Given the description of an element on the screen output the (x, y) to click on. 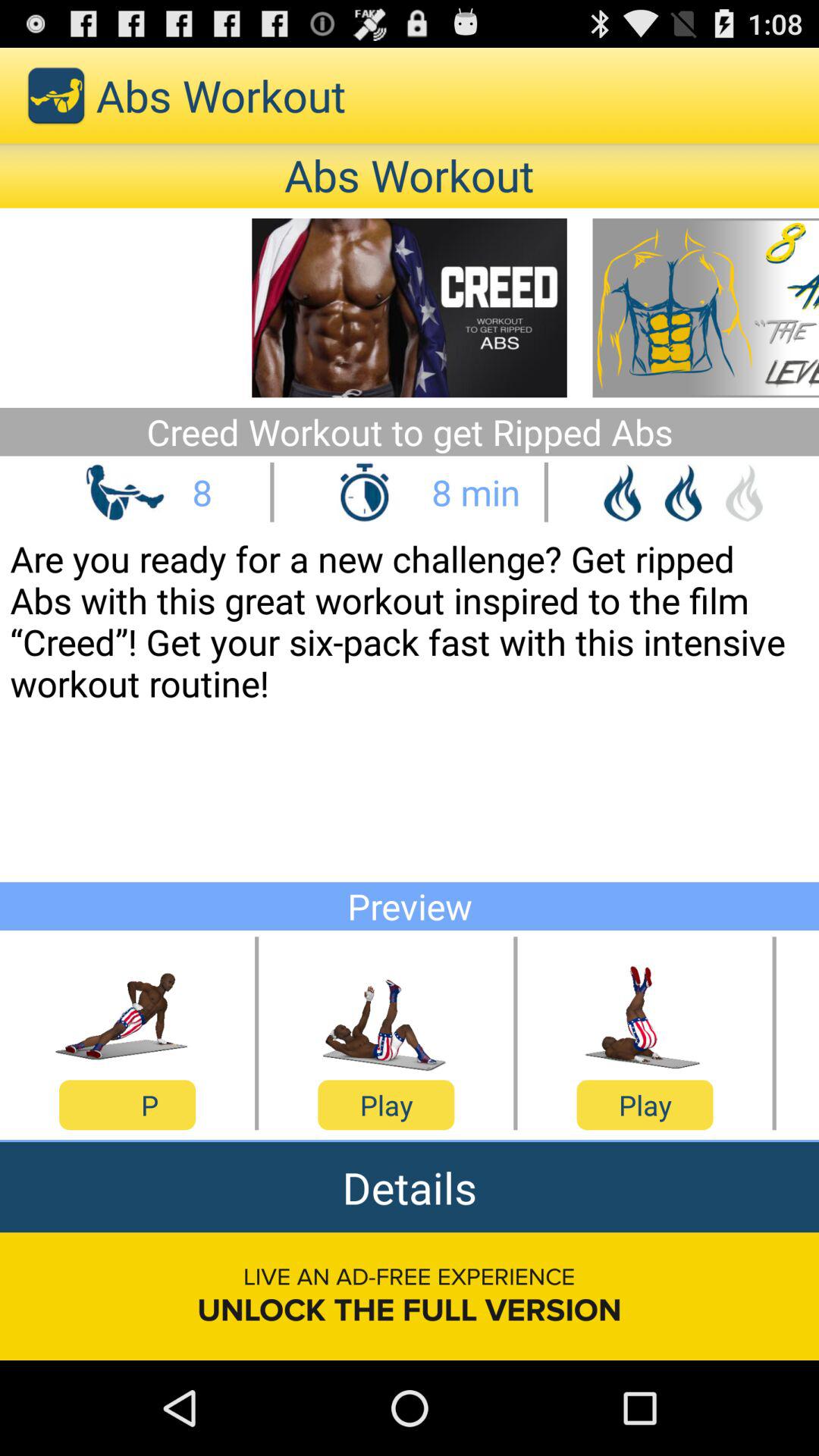
scroll until details (409, 1187)
